Given the description of an element on the screen output the (x, y) to click on. 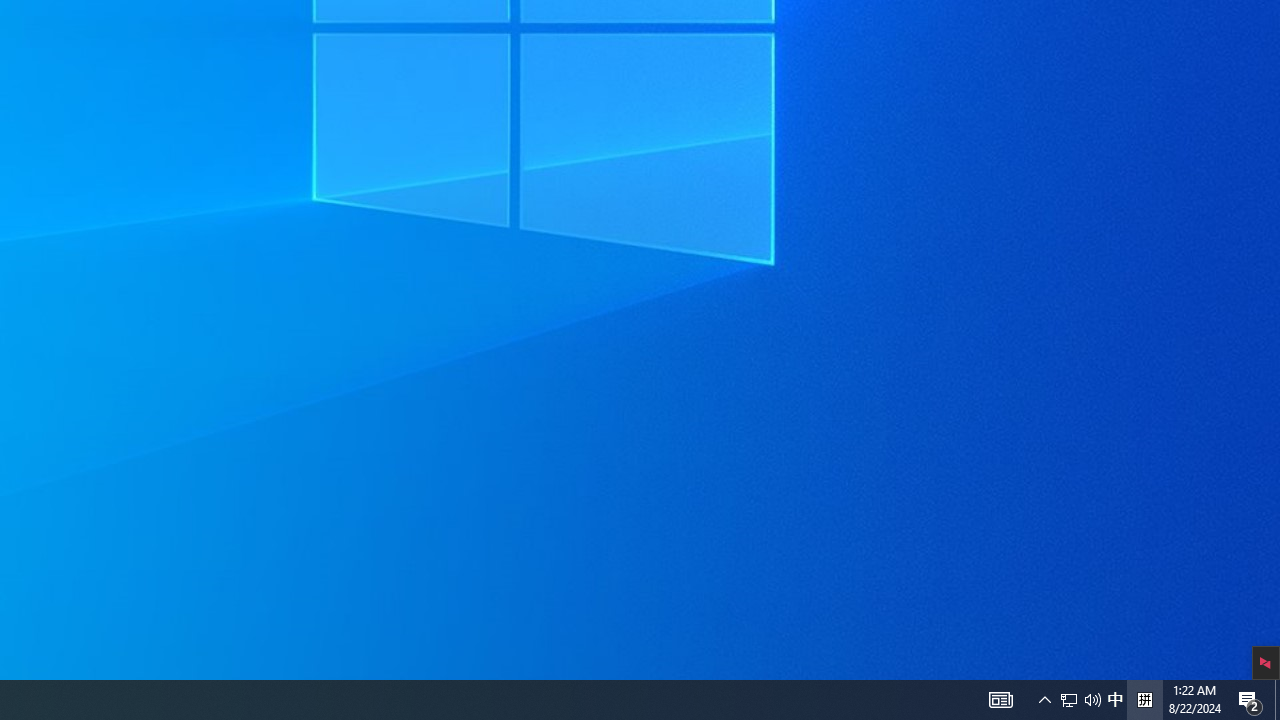
Q2790: 100% (1115, 699)
Notification Chevron (1092, 699)
Show desktop (1044, 699)
Tray Input Indicator - Chinese (Simplified, China) (1277, 699)
User Promoted Notification Area (1144, 699)
Action Center, 2 new notifications (1080, 699)
AutomationID: 4105 (1250, 699)
